Given the description of an element on the screen output the (x, y) to click on. 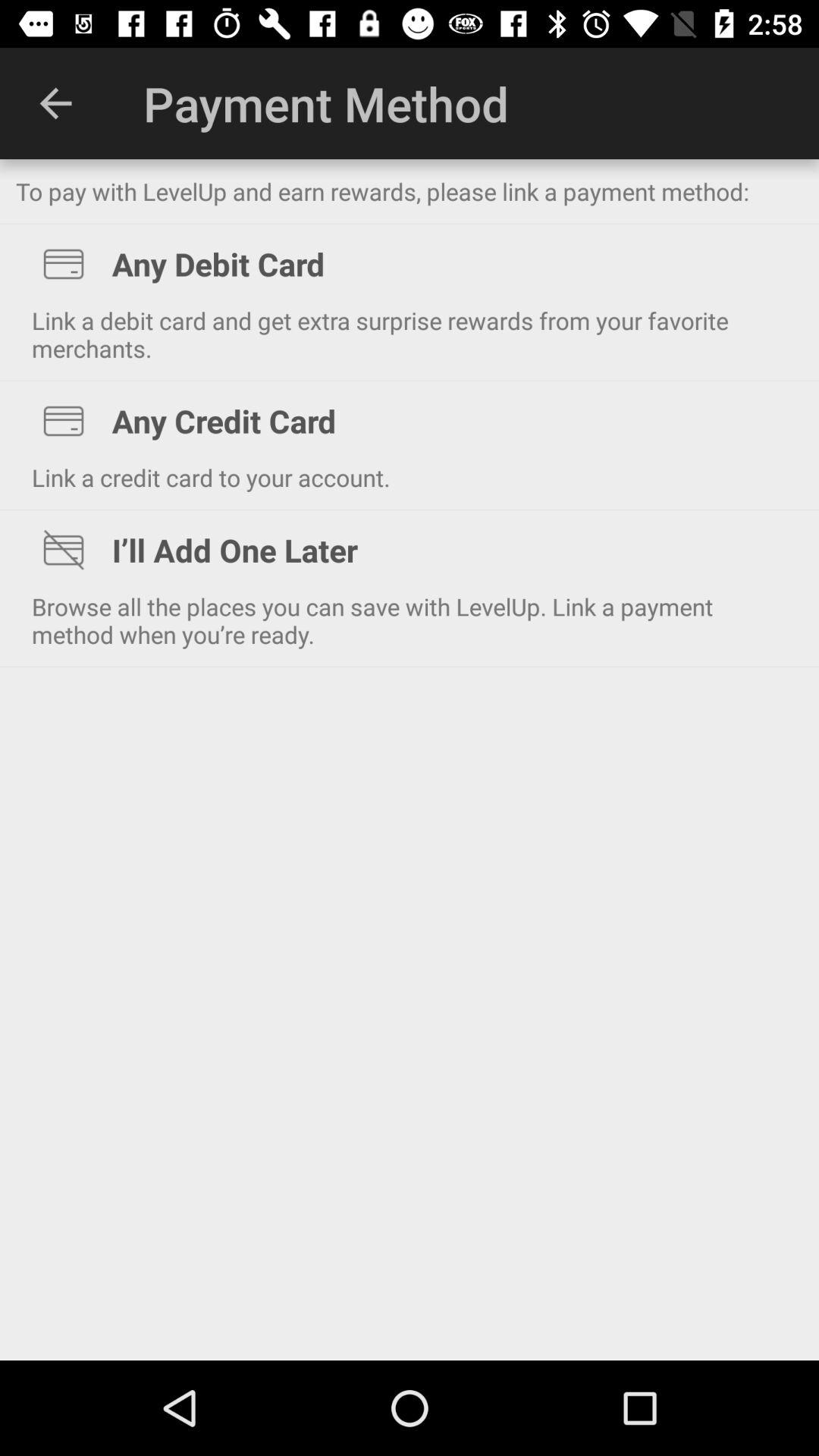
choose the app to the left of the payment method icon (55, 103)
